Given the description of an element on the screen output the (x, y) to click on. 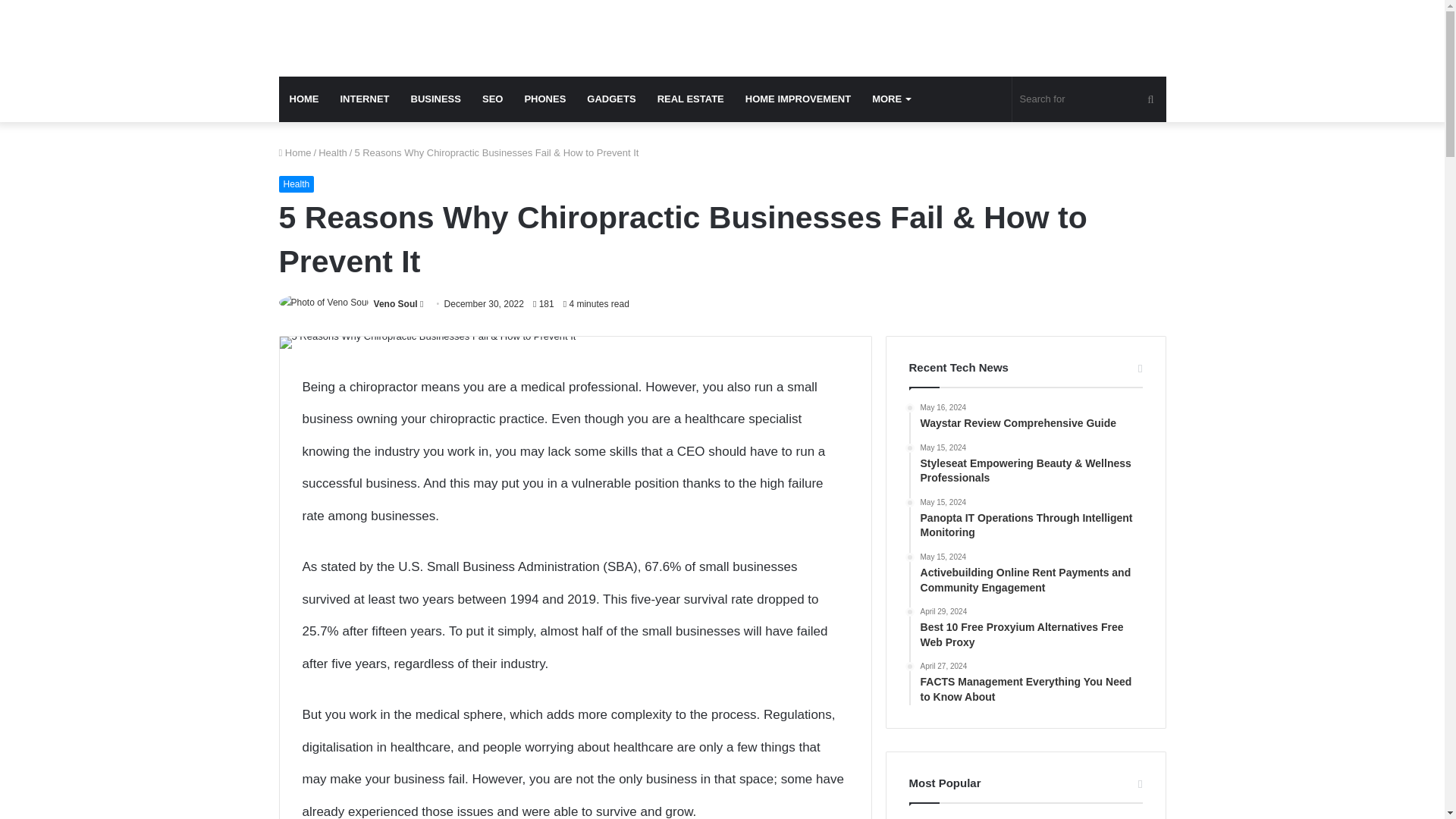
HOME IMPROVEMENT (798, 99)
REAL ESTATE (690, 99)
GADGETS (611, 99)
SEO (492, 99)
INTERNET (363, 99)
Home (295, 152)
Search for (1088, 99)
PHONES (544, 99)
BUSINESS (435, 99)
Veno Soul (395, 303)
Health (332, 152)
MORE (890, 99)
Health (296, 184)
